Given the description of an element on the screen output the (x, y) to click on. 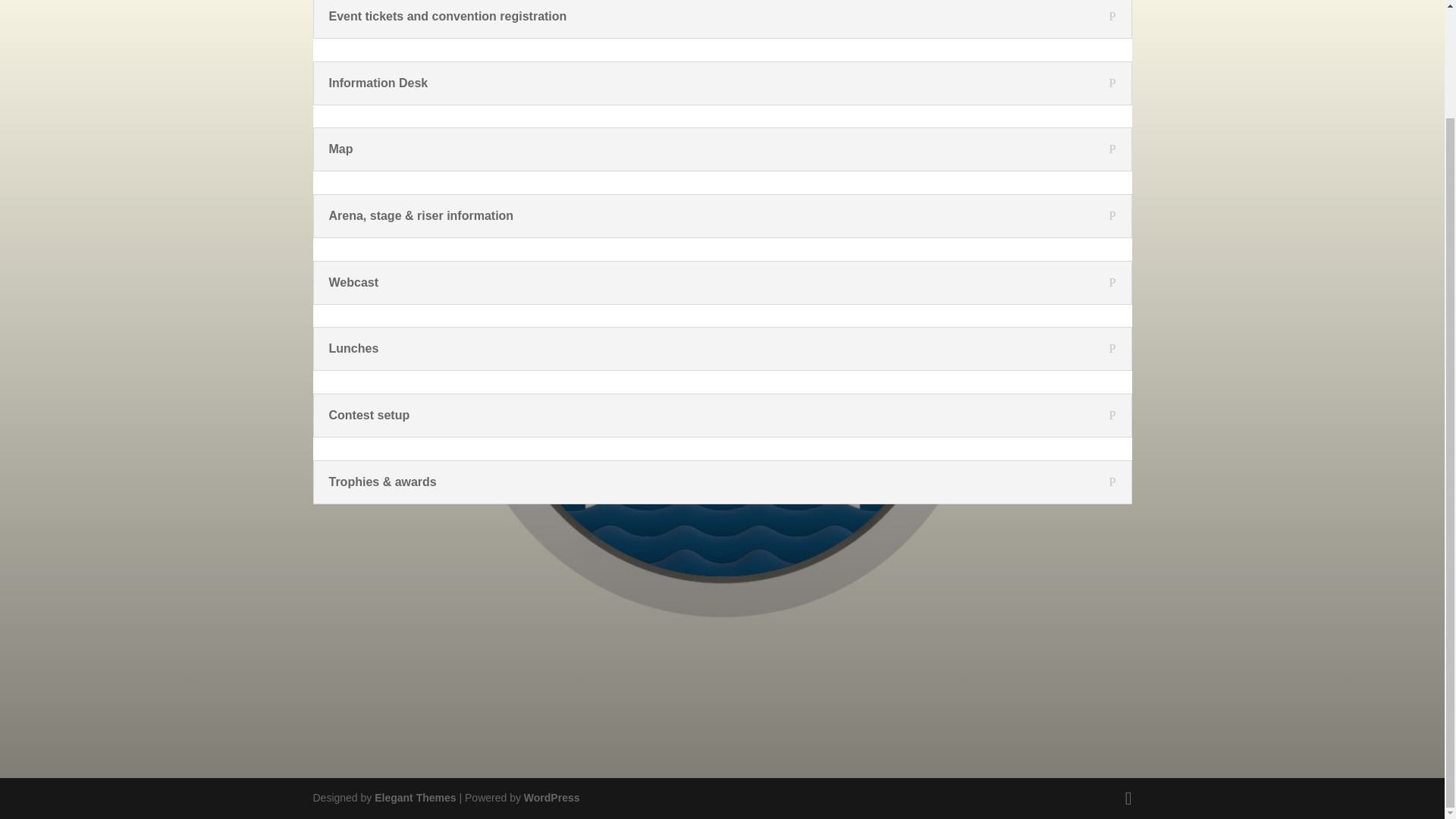
Premium WordPress Themes (414, 797)
